Given the description of an element on the screen output the (x, y) to click on. 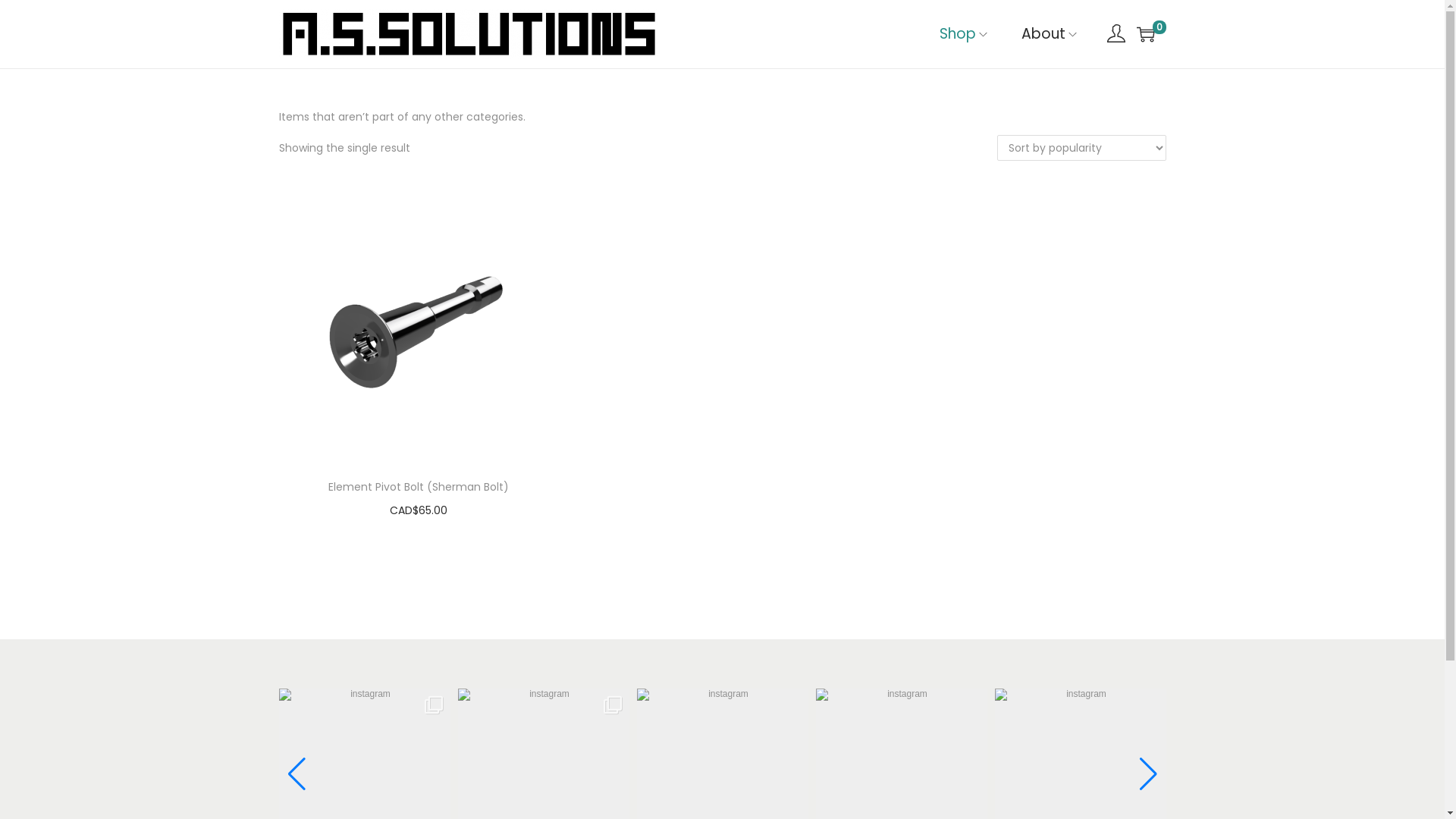
About Element type: text (1049, 34)
Search Element type: text (950, 428)
Skip to navigation Element type: text (277, 33)
Element Pivot Bolt (Sherman Bolt) Element type: text (418, 486)
0 Element type: text (1144, 34)
Shop Element type: text (964, 34)
